Given the description of an element on the screen output the (x, y) to click on. 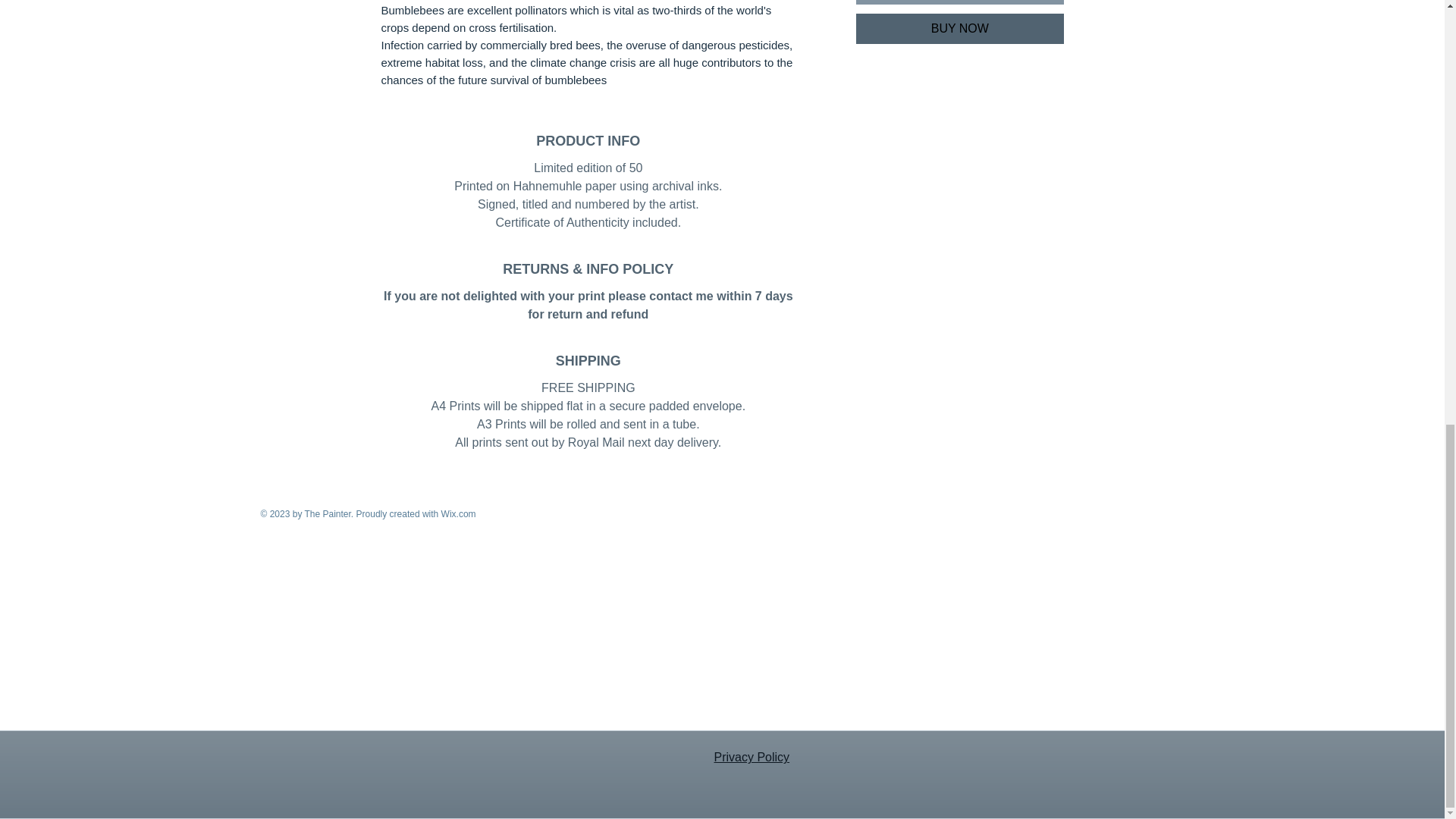
BUY NOW (959, 28)
ADD TO CART (959, 2)
